Given the description of an element on the screen output the (x, y) to click on. 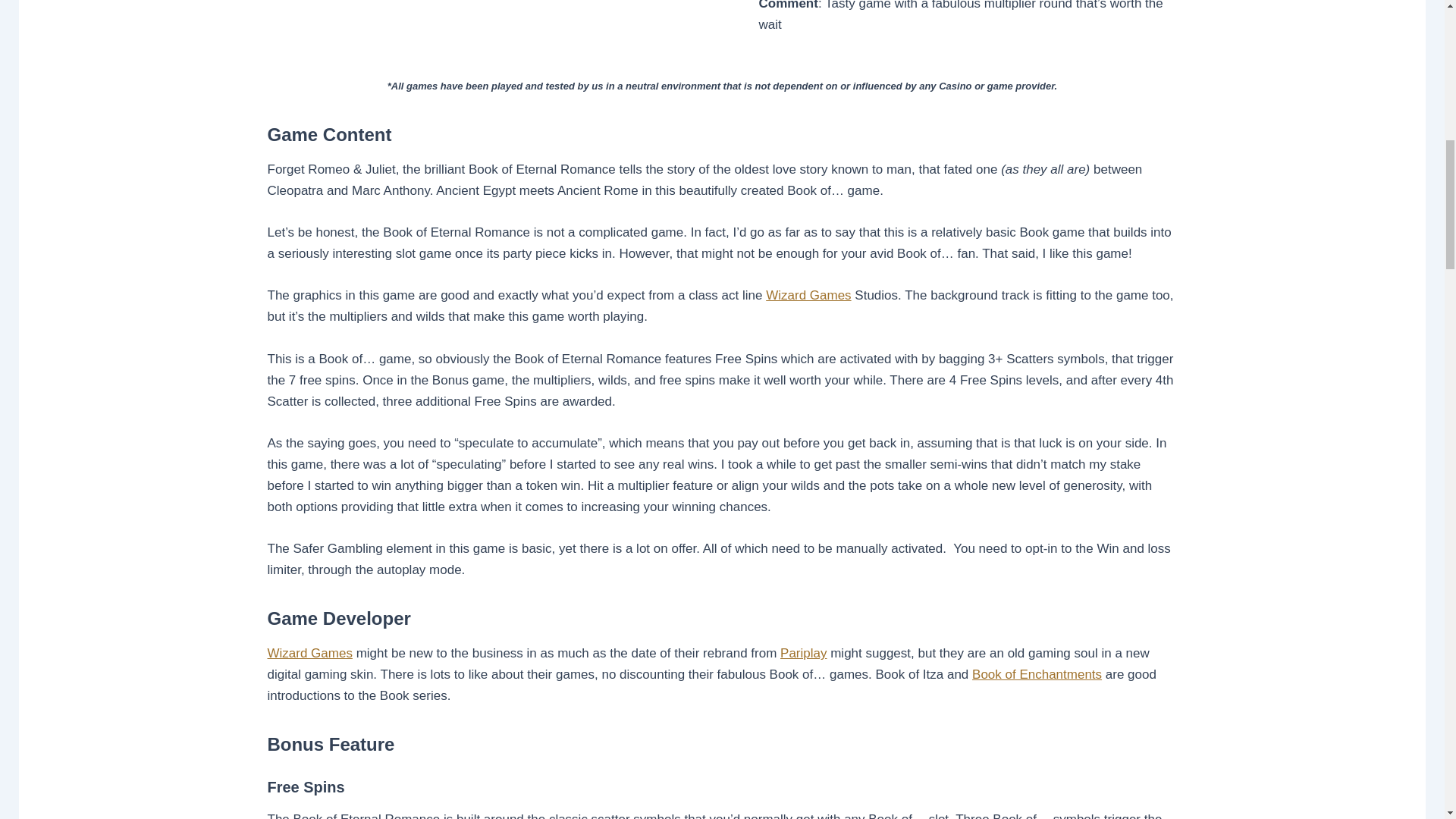
Wizard Games (309, 653)
Wizard Games (807, 295)
Pariplay (803, 653)
Book of Enchantments (1037, 674)
